Given the description of an element on the screen output the (x, y) to click on. 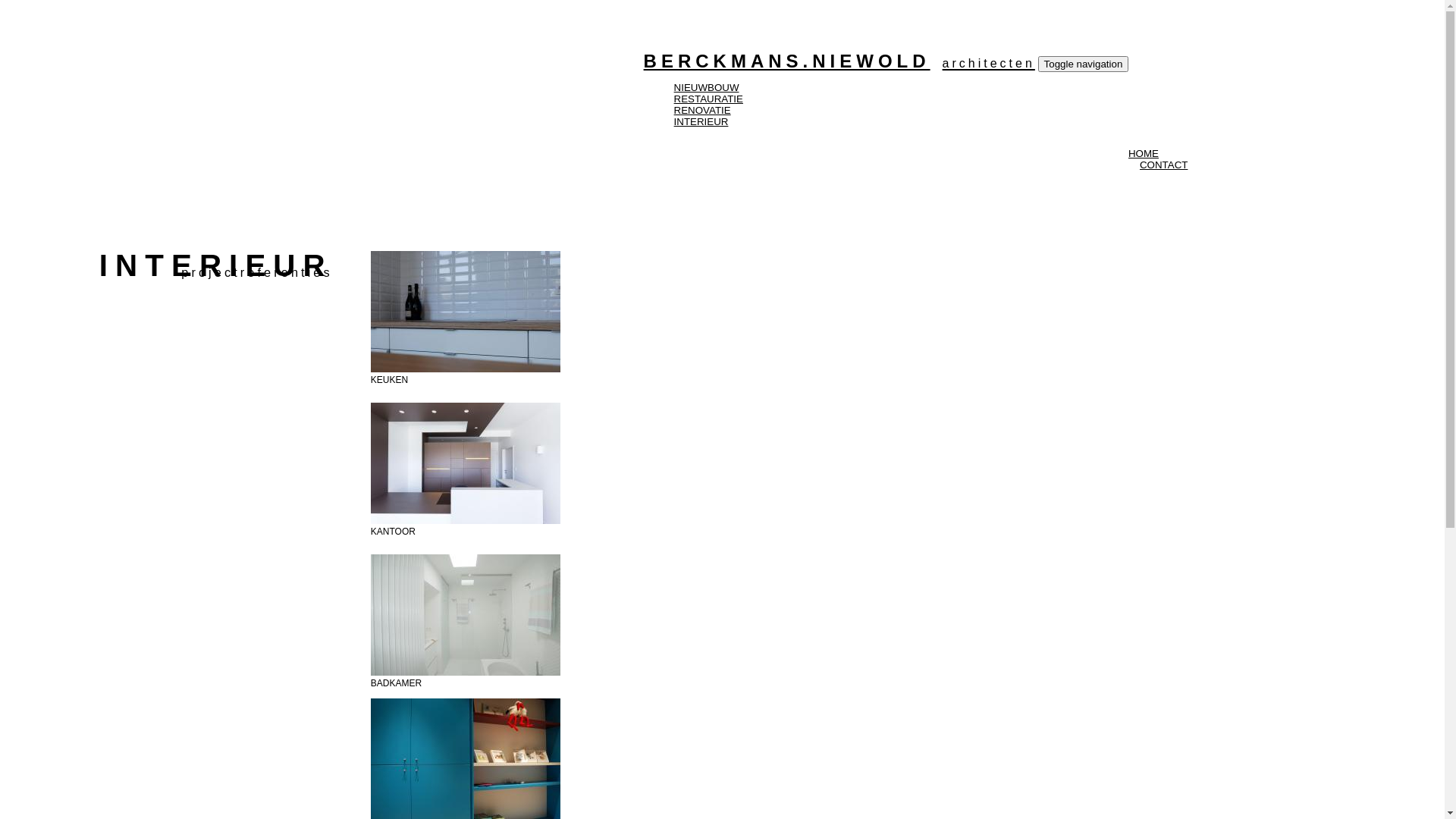
Overslaan en naar de inhoud gaan Element type: text (6, 50)
RENOVATIE Element type: text (702, 110)
HOME Element type: text (1143, 153)
INTERIEUR Element type: text (701, 121)
BERCKMANS.NIEWOLD Element type: text (839, 60)
NIEUWBOUW Element type: text (706, 87)
RESTAURATIE Element type: text (708, 98)
KEUKEN Element type: text (388, 379)
Toggle navigation Element type: text (1083, 64)
BADKAMER Element type: text (395, 682)
CONTACT Element type: text (1157, 164)
KANTOOR Element type: text (392, 531)
